Given the description of an element on the screen output the (x, y) to click on. 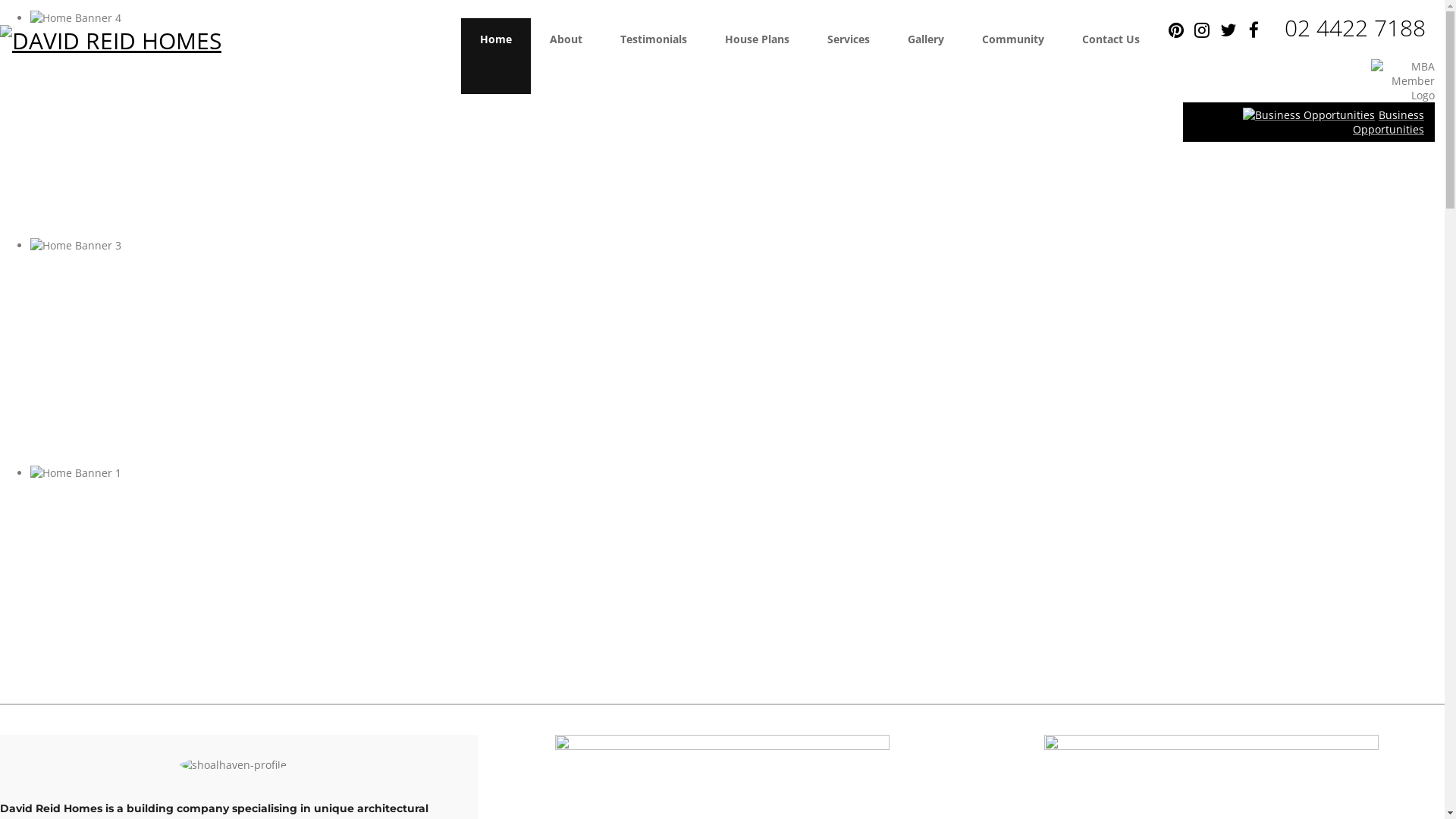
Testimonials Element type: text (653, 56)
About Element type: text (565, 56)
Community Element type: text (1013, 56)
02 4422 7188 Element type: text (1354, 27)
Home Element type: text (495, 56)
Business Opportunities Element type: text (1388, 121)
Gallery Element type: text (925, 56)
Services Element type: text (848, 56)
shoalhaven-profile Element type: hover (232, 764)
Contact Us Element type: text (1110, 56)
House Plans Element type: text (757, 56)
